Given the description of an element on the screen output the (x, y) to click on. 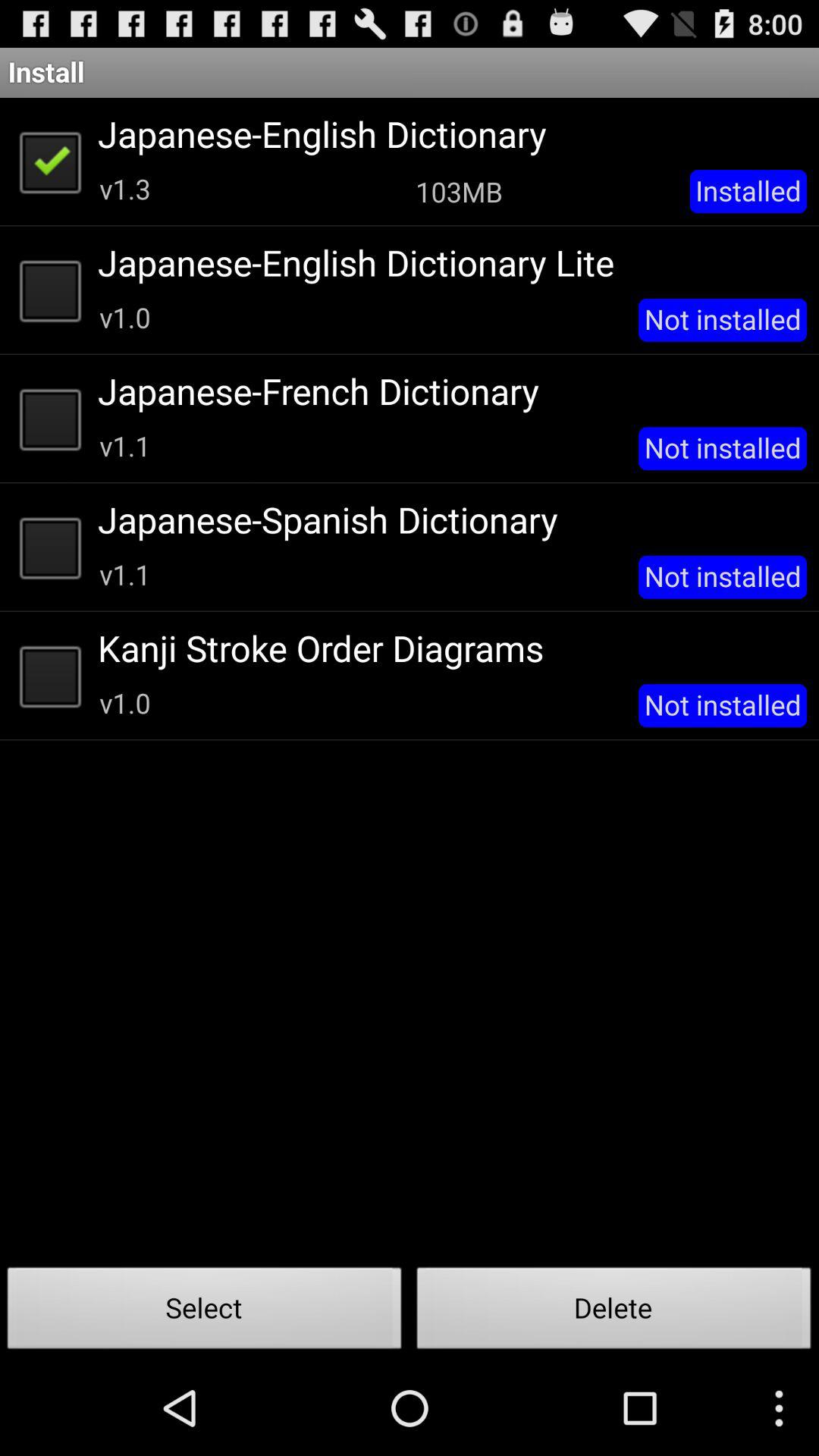
turn off icon at the bottom left corner (204, 1312)
